Given the description of an element on the screen output the (x, y) to click on. 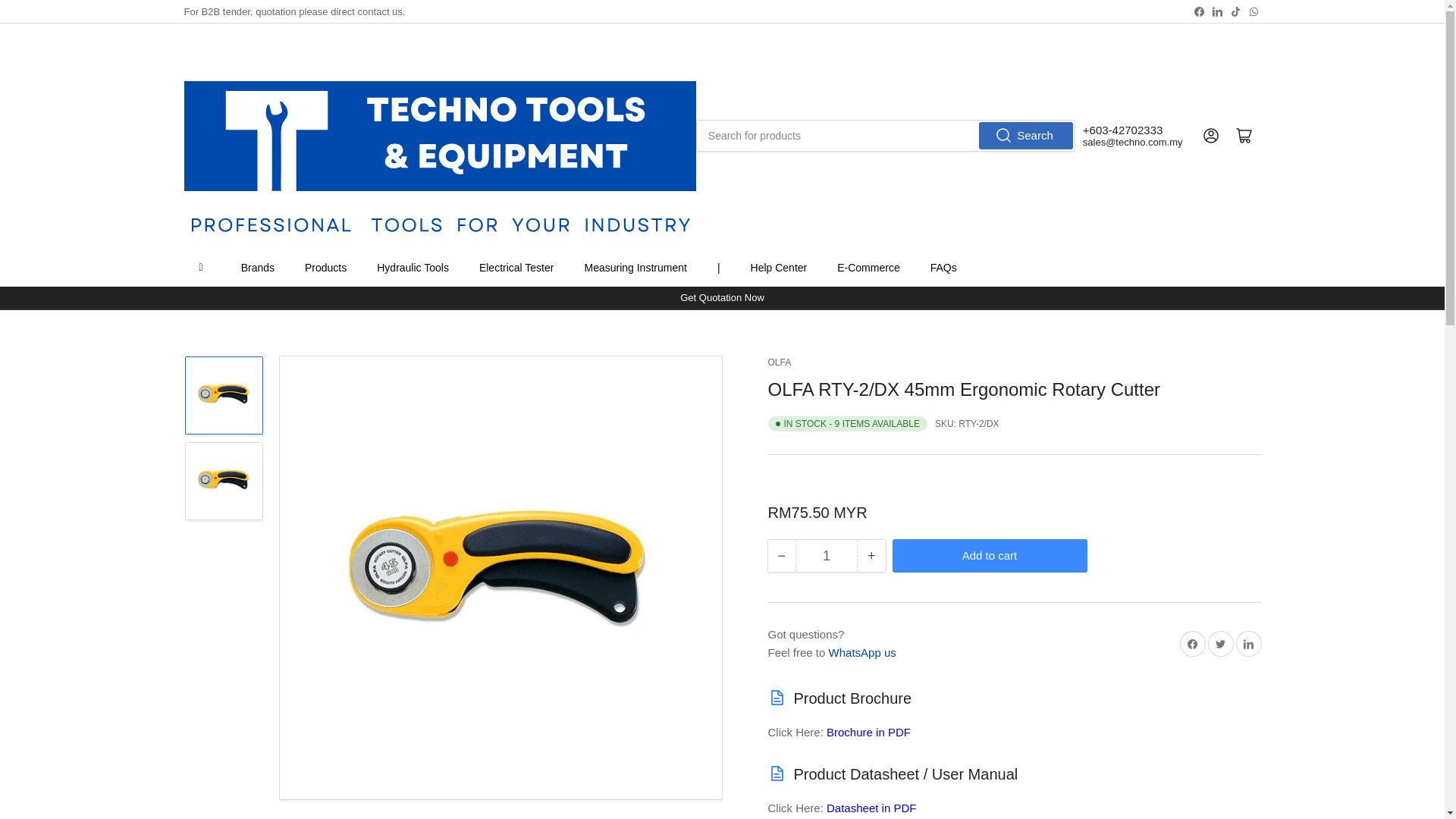
LinkedIn (1216, 11)
1 (825, 555)
Open mini cart (1243, 135)
WhatsApp (1253, 11)
Log in (1210, 135)
Search (1025, 135)
Facebook (1199, 11)
TikTok (1235, 11)
